Given the description of an element on the screen output the (x, y) to click on. 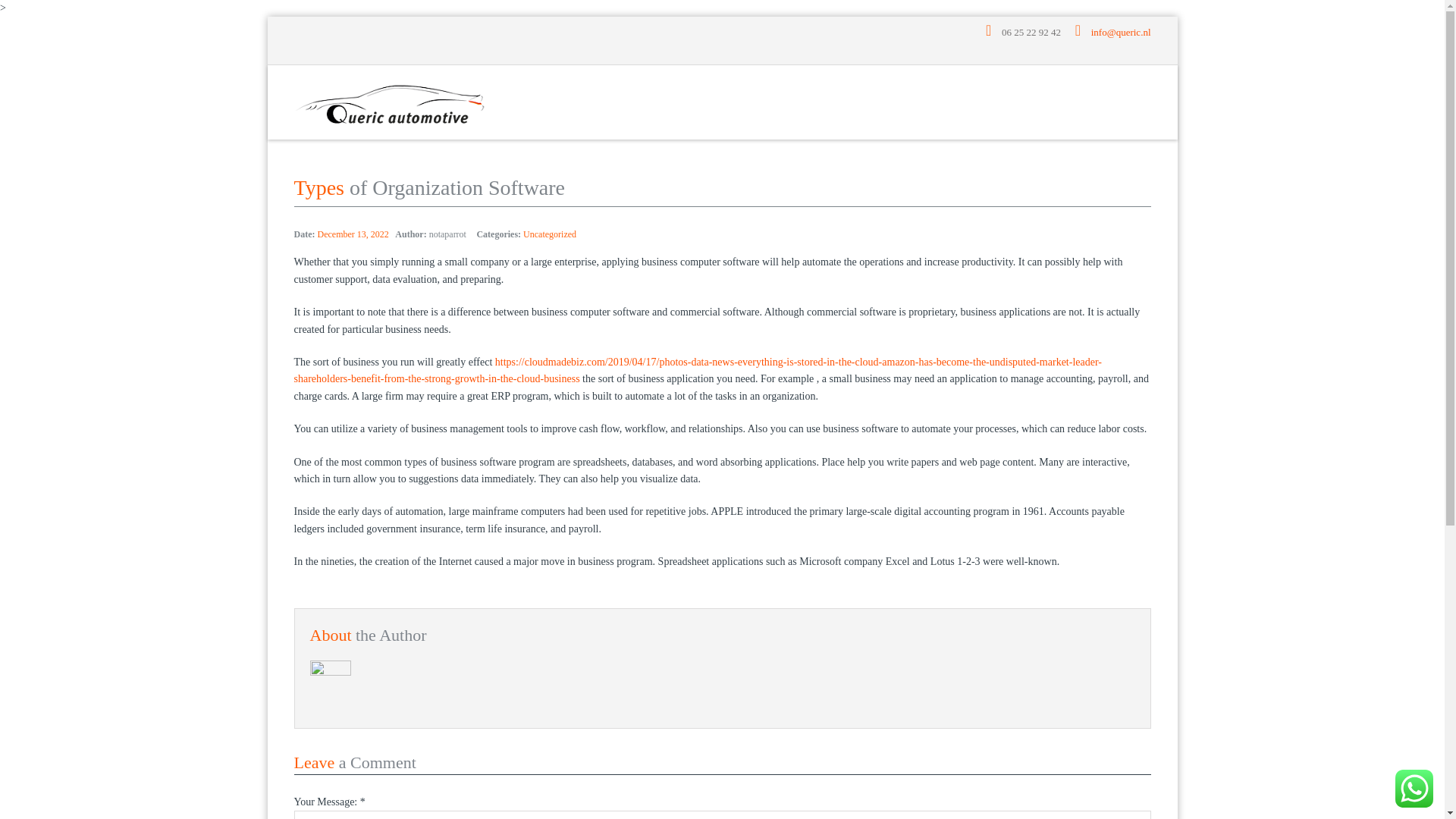
December 13, 2022 (352, 234)
Voor al uw mobiliteitsoplossingen (390, 101)
Uncategorized (549, 234)
